Given the description of an element on the screen output the (x, y) to click on. 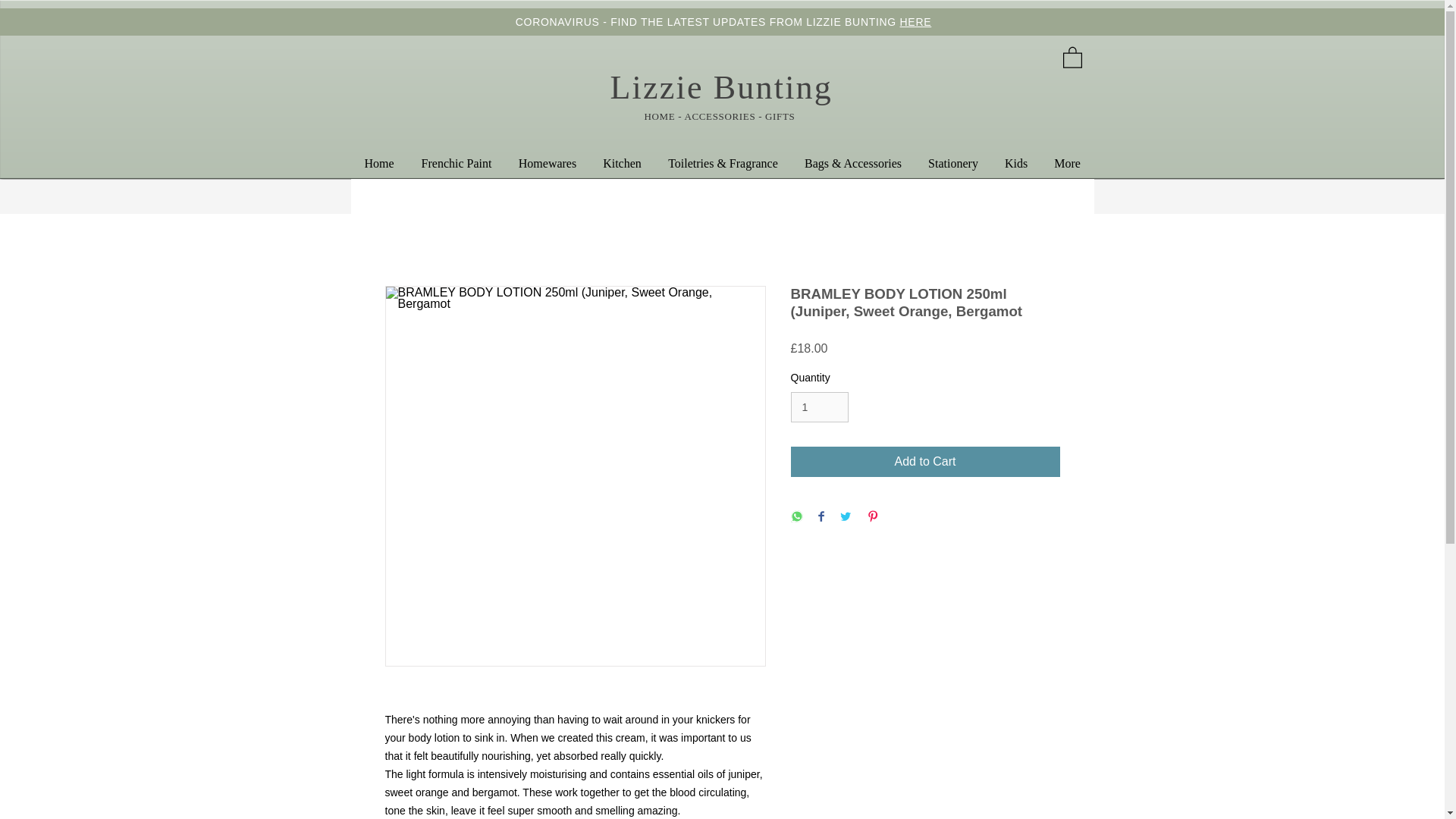
Homewares (547, 163)
Kids (1016, 163)
Home (378, 163)
Kitchen (622, 163)
1 (818, 407)
HERE (915, 21)
Stationery (952, 163)
Frenchic Paint (456, 163)
